Given the description of an element on the screen output the (x, y) to click on. 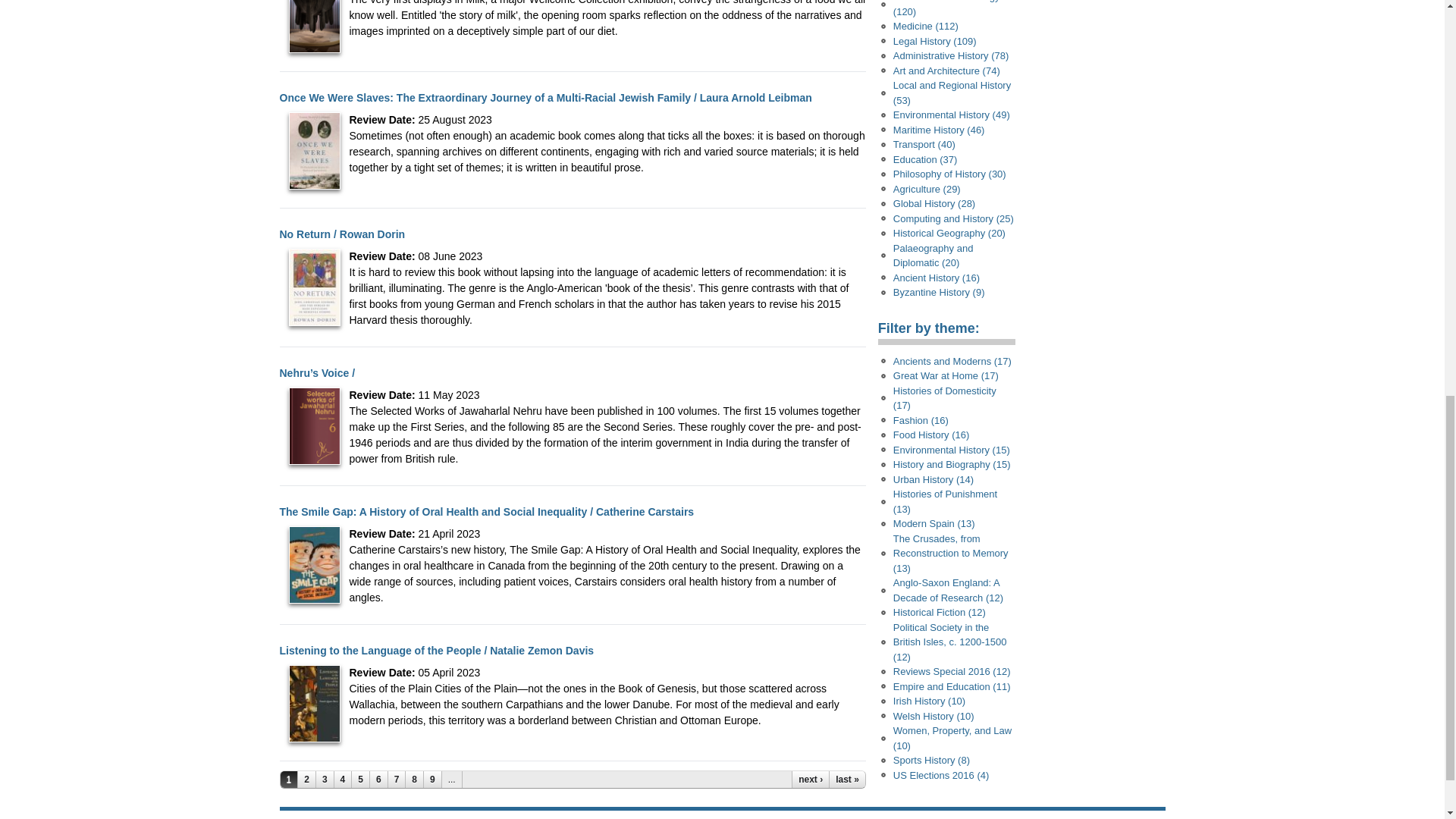
2 (306, 779)
3 (324, 779)
7 (397, 779)
4 (343, 779)
6 (378, 779)
8 (414, 779)
9 (432, 779)
5 (360, 779)
